Given the description of an element on the screen output the (x, y) to click on. 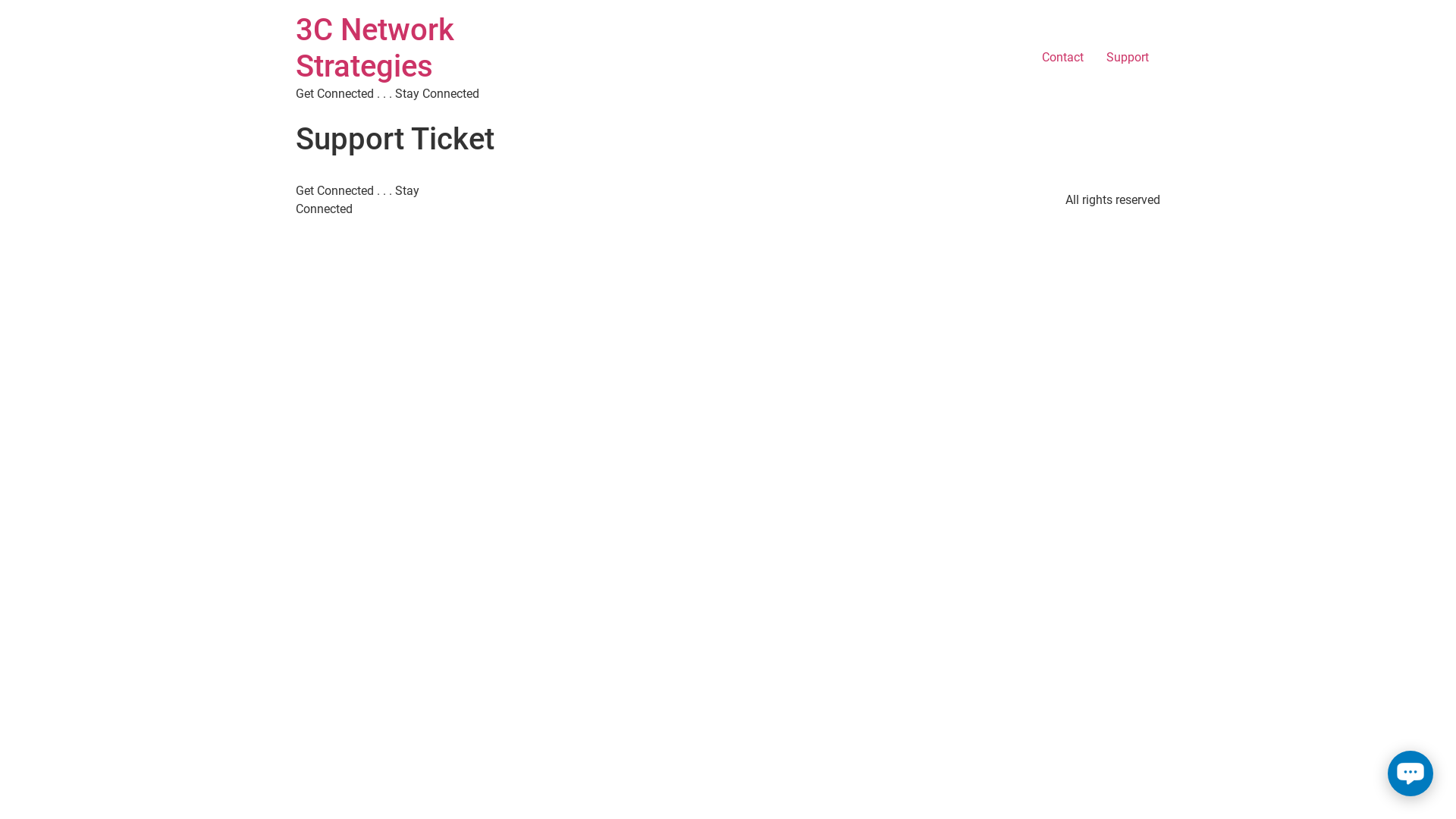
3C Network Strategies Element type: text (374, 48)
Contact Element type: text (1062, 57)
Support Element type: text (1127, 57)
